Given the description of an element on the screen output the (x, y) to click on. 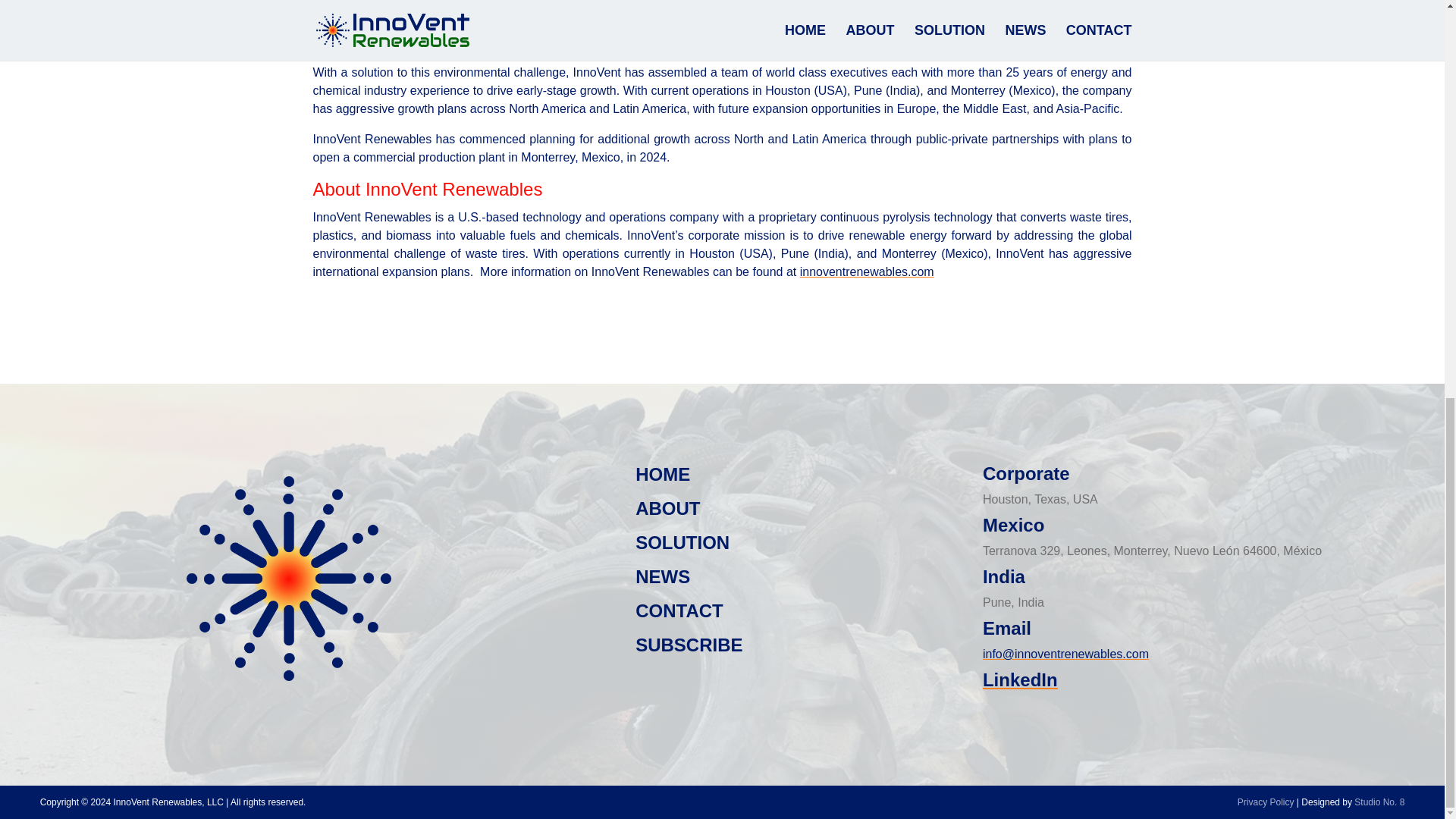
CONTACT (678, 610)
innoventrenewables.com (866, 271)
ABOUT (667, 507)
HOME (662, 474)
Privacy Policy (1265, 801)
Studio No. 8 (1379, 801)
Privacy Policy (1265, 801)
NEWS (662, 576)
SUBSCRIBE (688, 644)
Studio No. 8 (1379, 801)
